Given the description of an element on the screen output the (x, y) to click on. 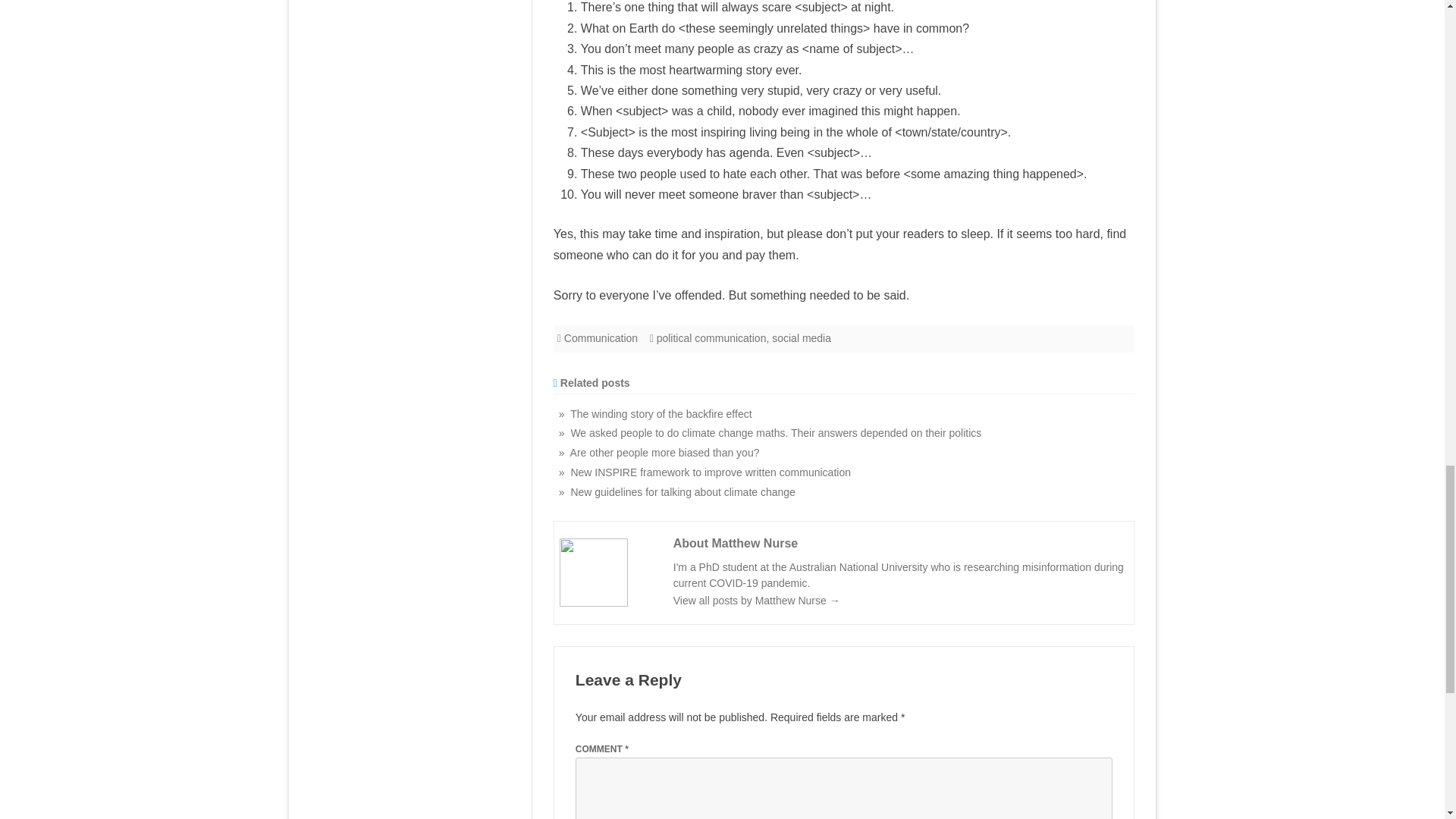
social media (801, 337)
political communication (711, 337)
Communication (600, 337)
